Given the description of an element on the screen output the (x, y) to click on. 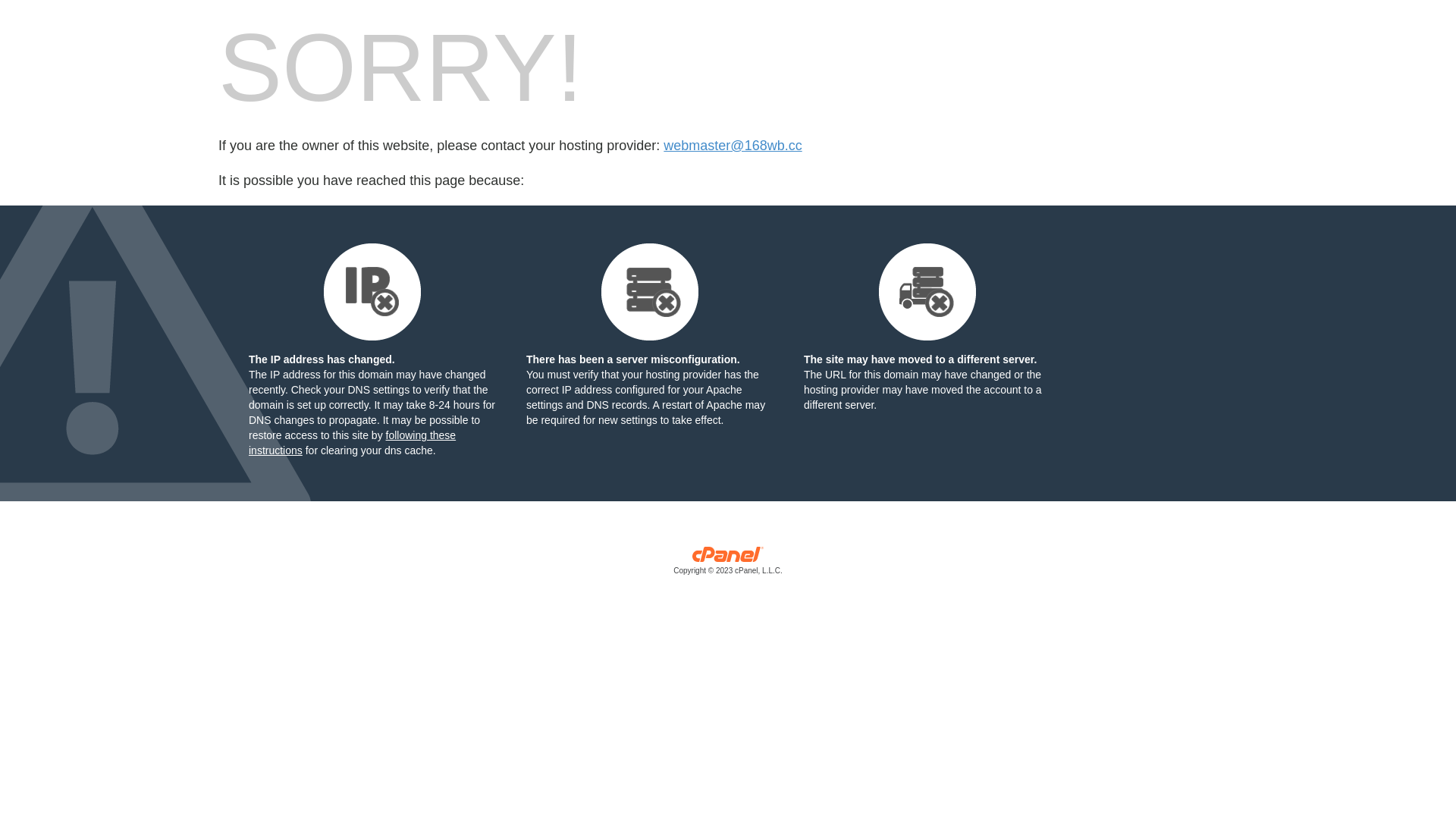
webmaster@168wb.cc Element type: text (732, 145)
following these instructions Element type: text (351, 442)
